Given the description of an element on the screen output the (x, y) to click on. 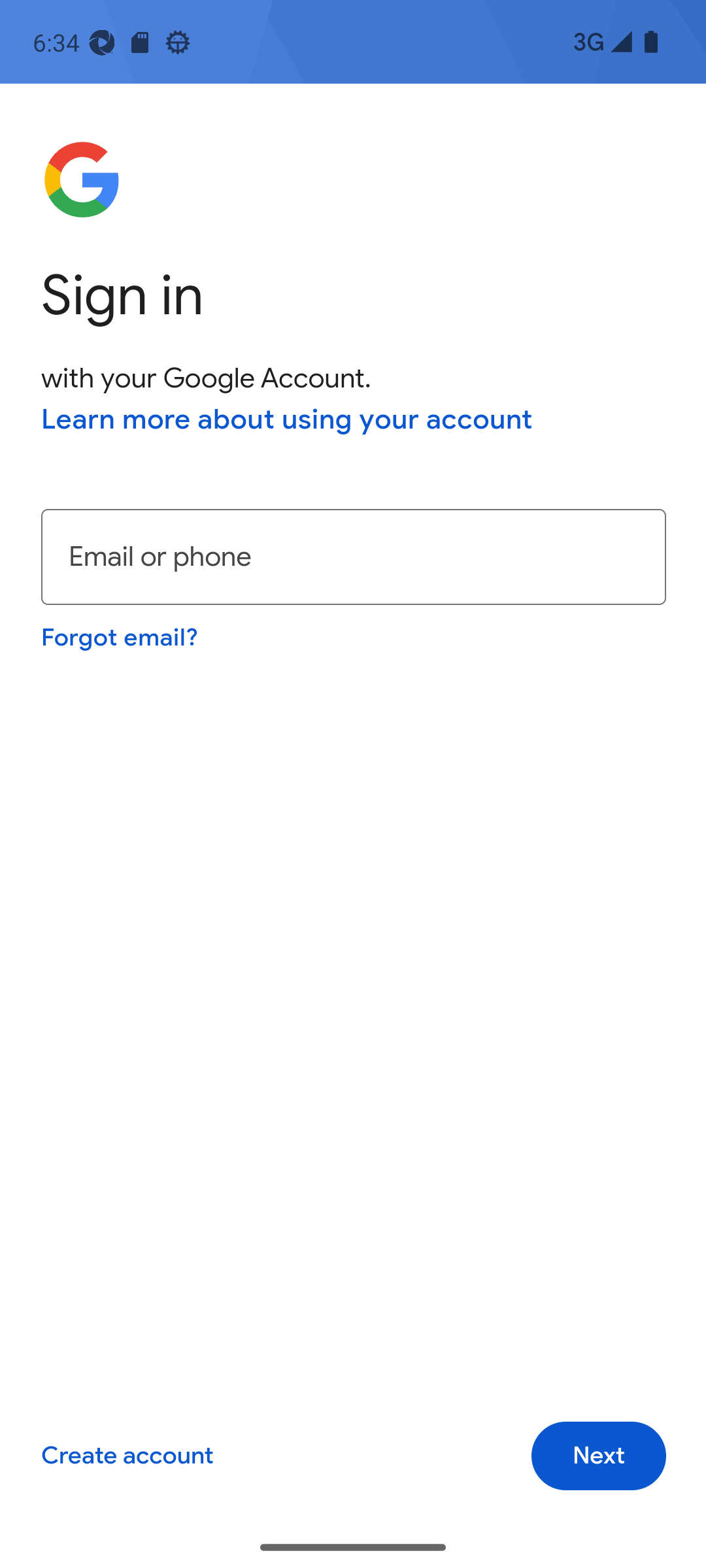
Learn more about using your account (286, 419)
Forgot email? (119, 635)
Create account (127, 1455)
Next (598, 1455)
